Given the description of an element on the screen output the (x, y) to click on. 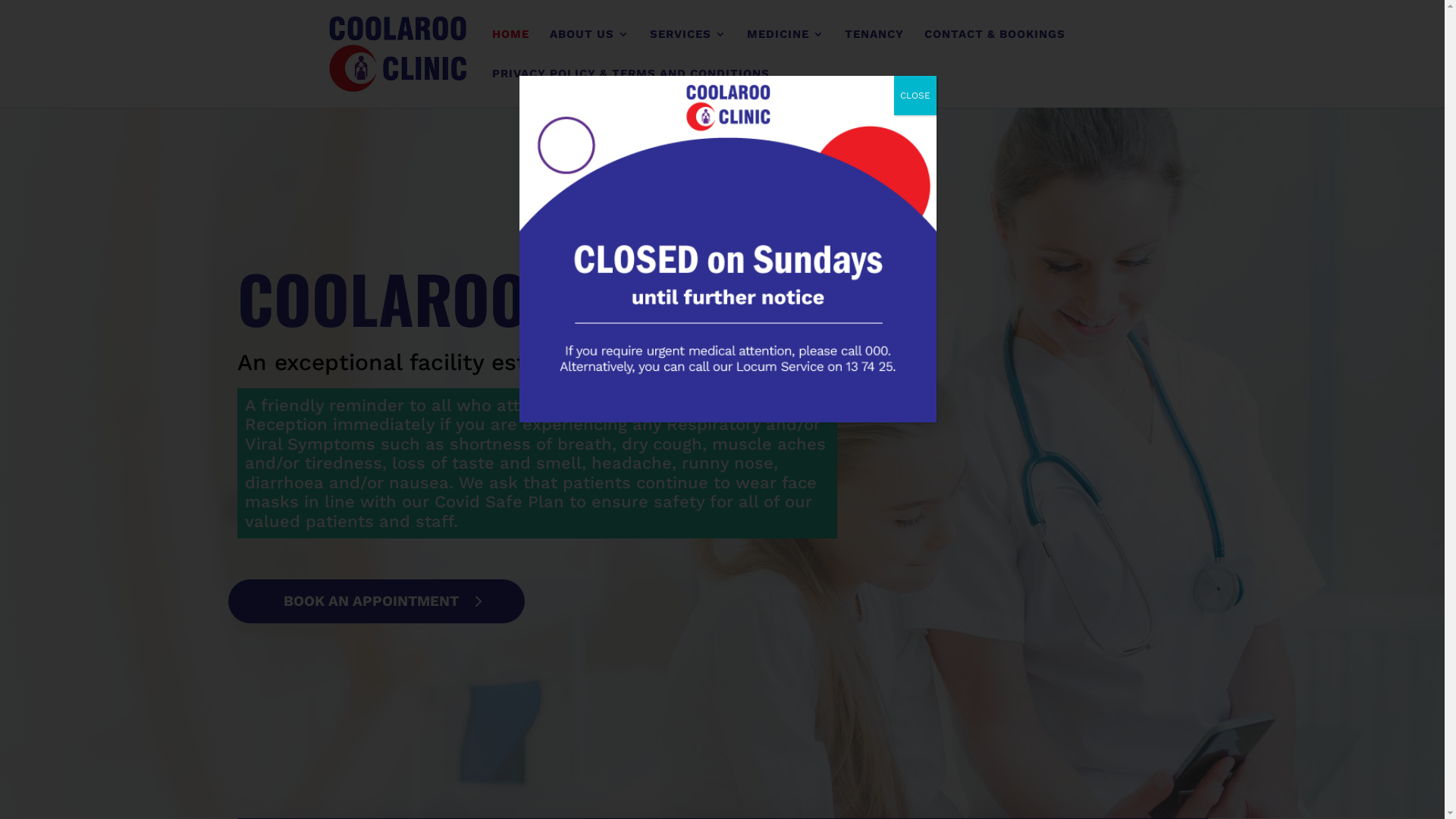
TENANCY Element type: text (873, 48)
BOOK AN APPOINTMENT Element type: text (375, 601)
MEDICINE Element type: text (785, 48)
CONTACT & BOOKINGS Element type: text (994, 48)
HOME Element type: text (510, 48)
PRIVACY POLICY & TERMS AND CONDITIONS Element type: text (630, 87)
SERVICES Element type: text (687, 48)
CLOSE Element type: text (915, 95)
ABOUT US Element type: text (589, 48)
